Given the description of an element on the screen output the (x, y) to click on. 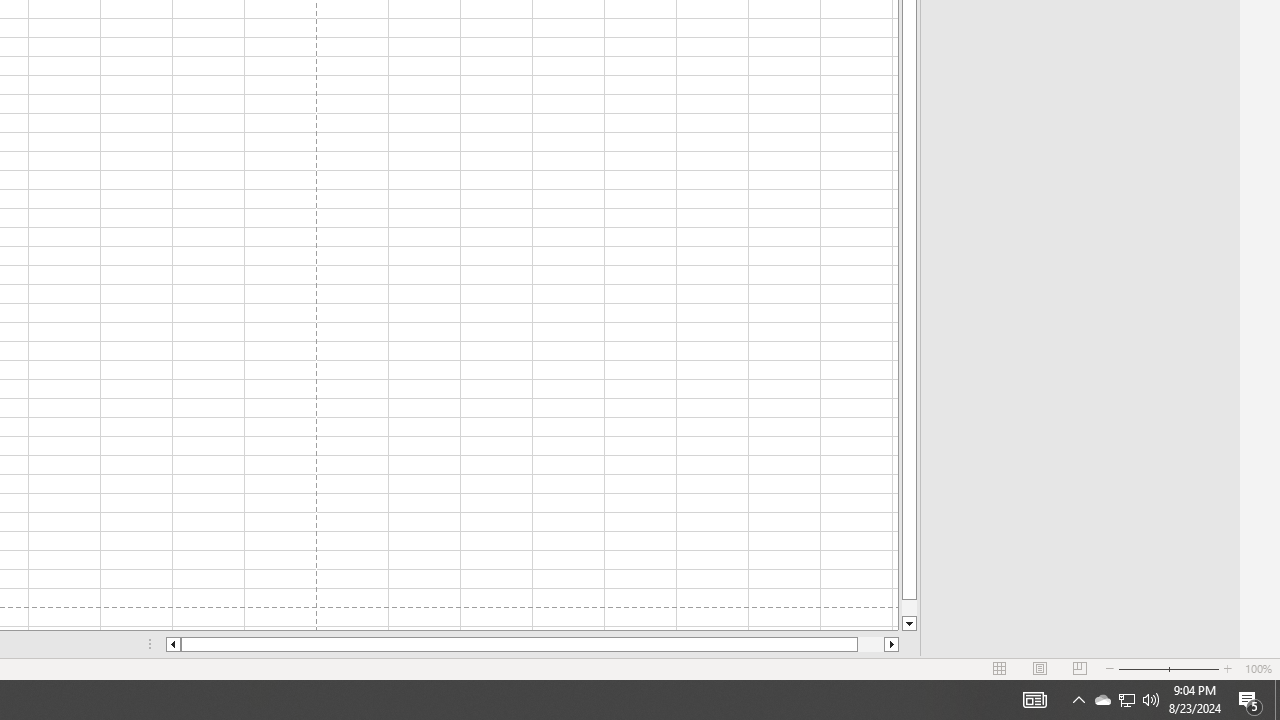
Zoom In (1227, 668)
Class: NetUIScrollBar (532, 644)
Column left (171, 644)
Zoom (1168, 668)
Page down (909, 607)
Normal (1000, 668)
Line down (909, 624)
Page right (870, 644)
Page Break Preview (1079, 668)
Zoom Out (1142, 668)
Column right (892, 644)
